Given the description of an element on the screen output the (x, y) to click on. 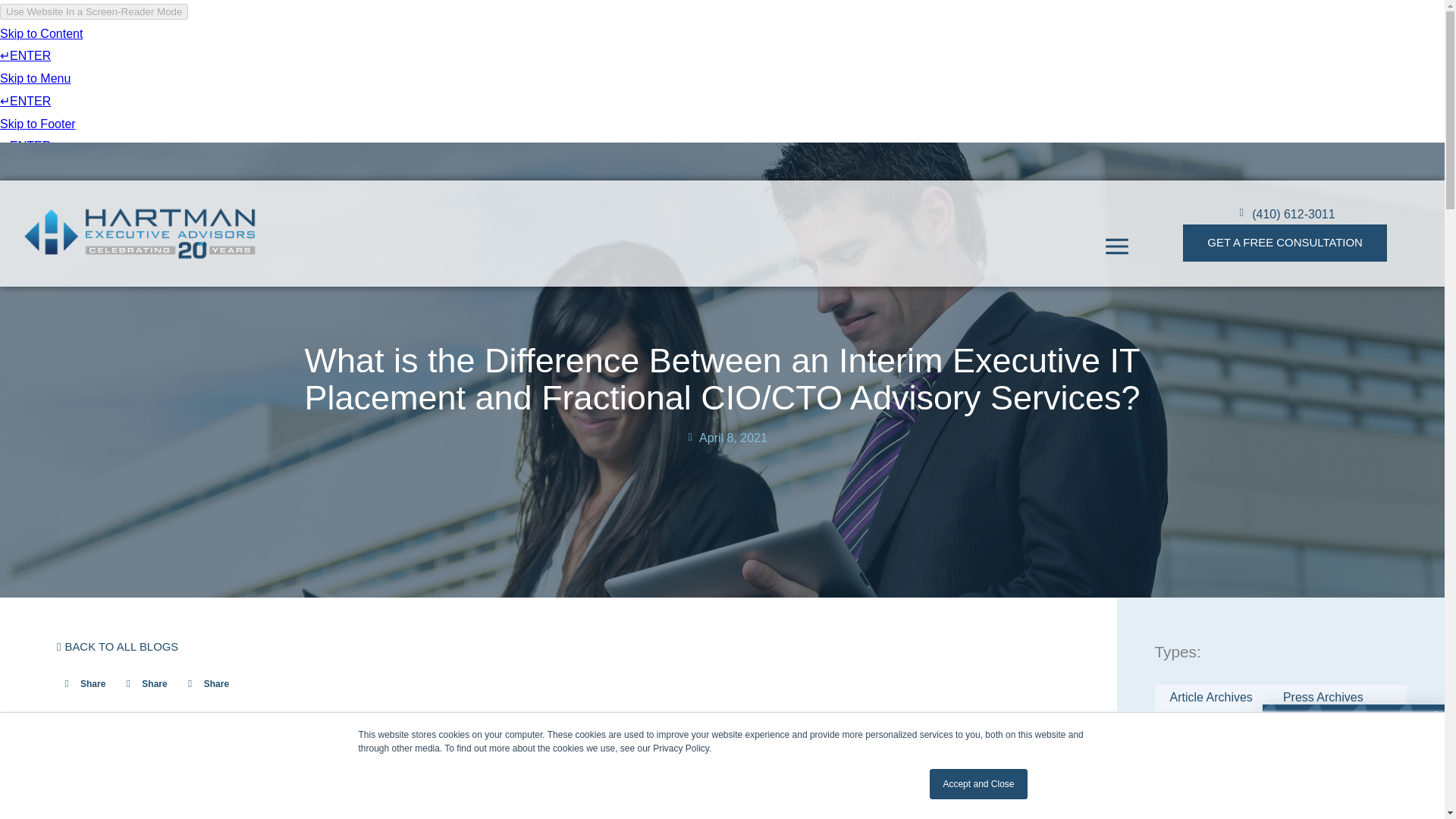
Article Archives (1210, 697)
Webinar Archives (1216, 749)
GET A FREE CONSULTATION (1284, 242)
BACK TO ALL BLOGS (116, 646)
Press Archives (1323, 697)
Accept and Close (978, 784)
April 8, 2021 (725, 443)
